Given the description of an element on the screen output the (x, y) to click on. 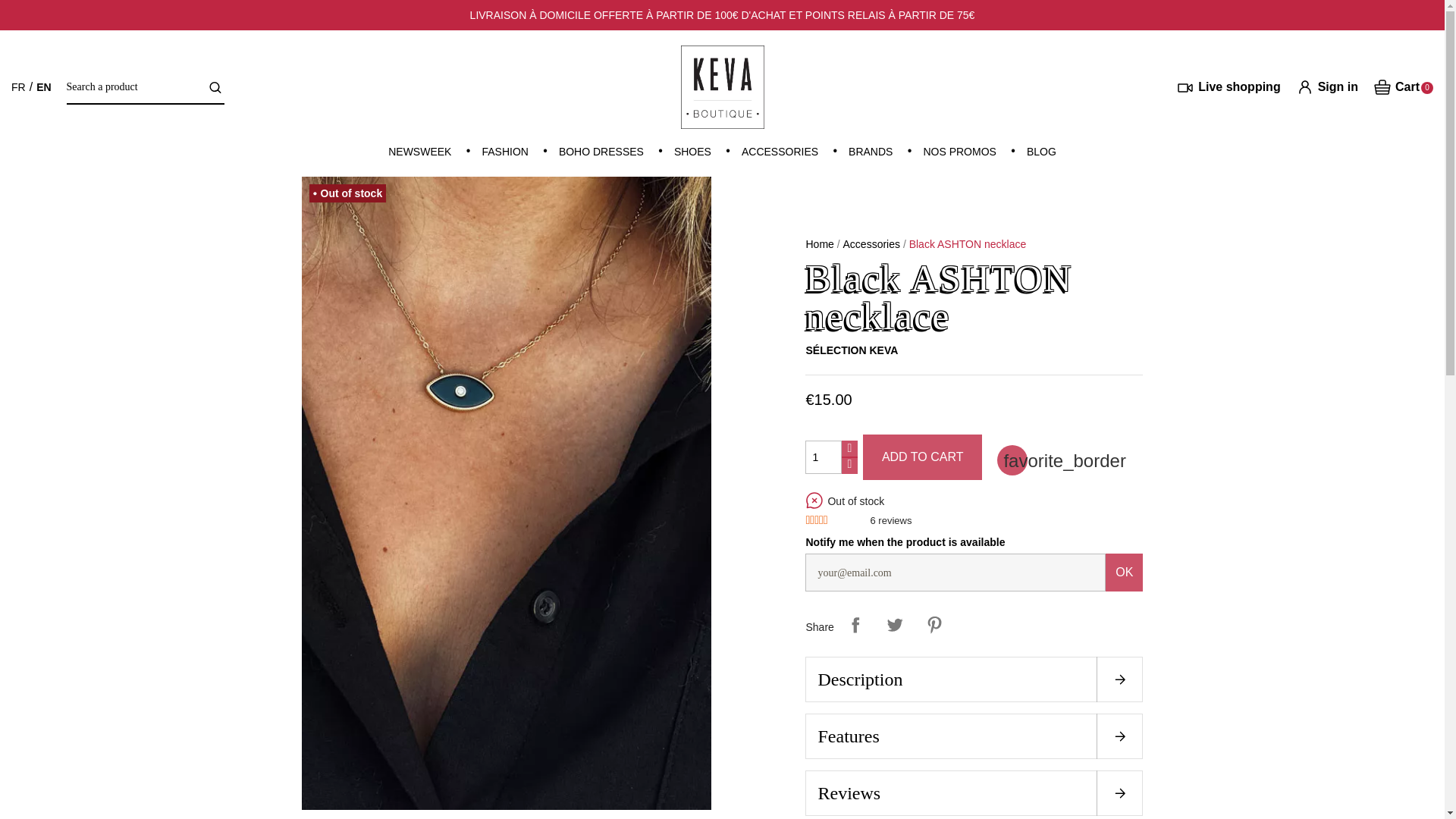
NEWSWEEK (418, 151)
1 (823, 456)
Keva boutique - Livraison offerte (722, 15)
Live shopping (1227, 86)
Newsweek (418, 151)
Sign in (1326, 86)
Log in to your customer account (1326, 86)
Fashion (504, 151)
Keva boutique - lien live shopping (1227, 86)
FASHION (504, 151)
